Given the description of an element on the screen output the (x, y) to click on. 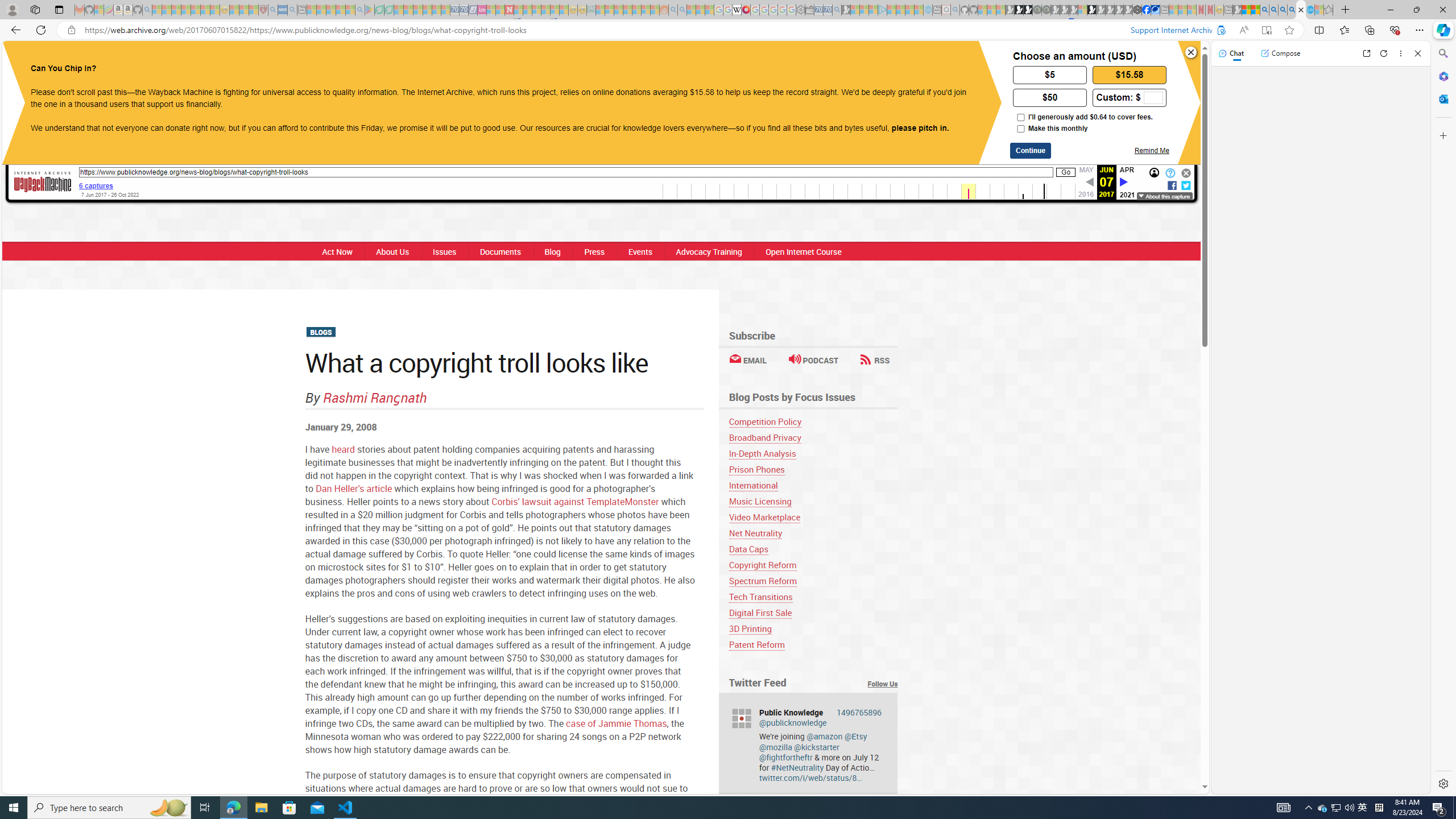
Follow Us (882, 683)
2009 Bing officially replaced Live Search on June 3 - Search (1272, 9)
Expand the search (875, 56)
publicknowledge (740, 718)
Next capture (1123, 182)
Prison Phones (813, 469)
